Given the description of an element on the screen output the (x, y) to click on. 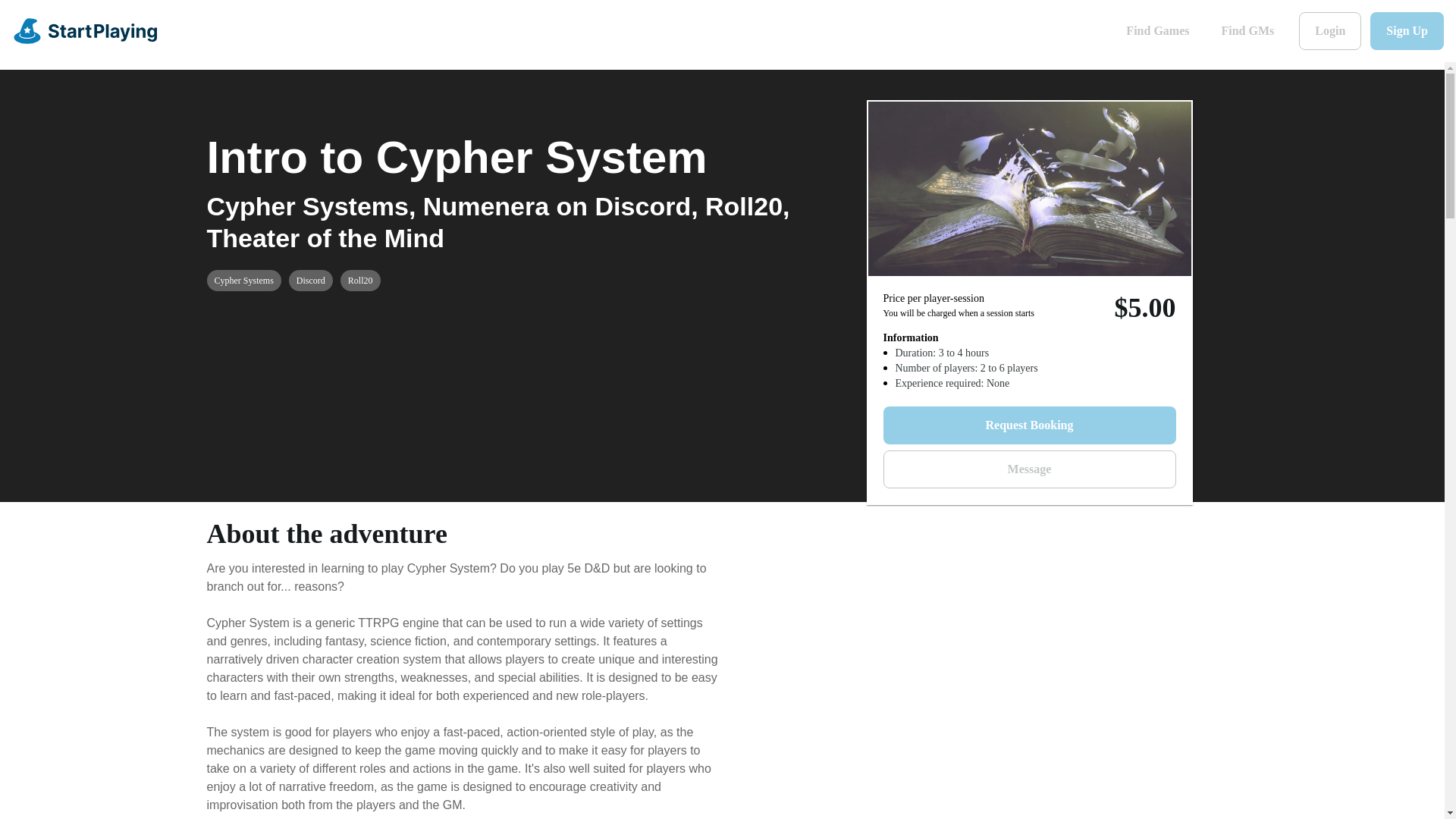
Sign Up (1407, 30)
Request Booking (1028, 425)
Message (1028, 469)
Find Games (1157, 30)
Find GMs (1247, 30)
Login (1329, 30)
